Given the description of an element on the screen output the (x, y) to click on. 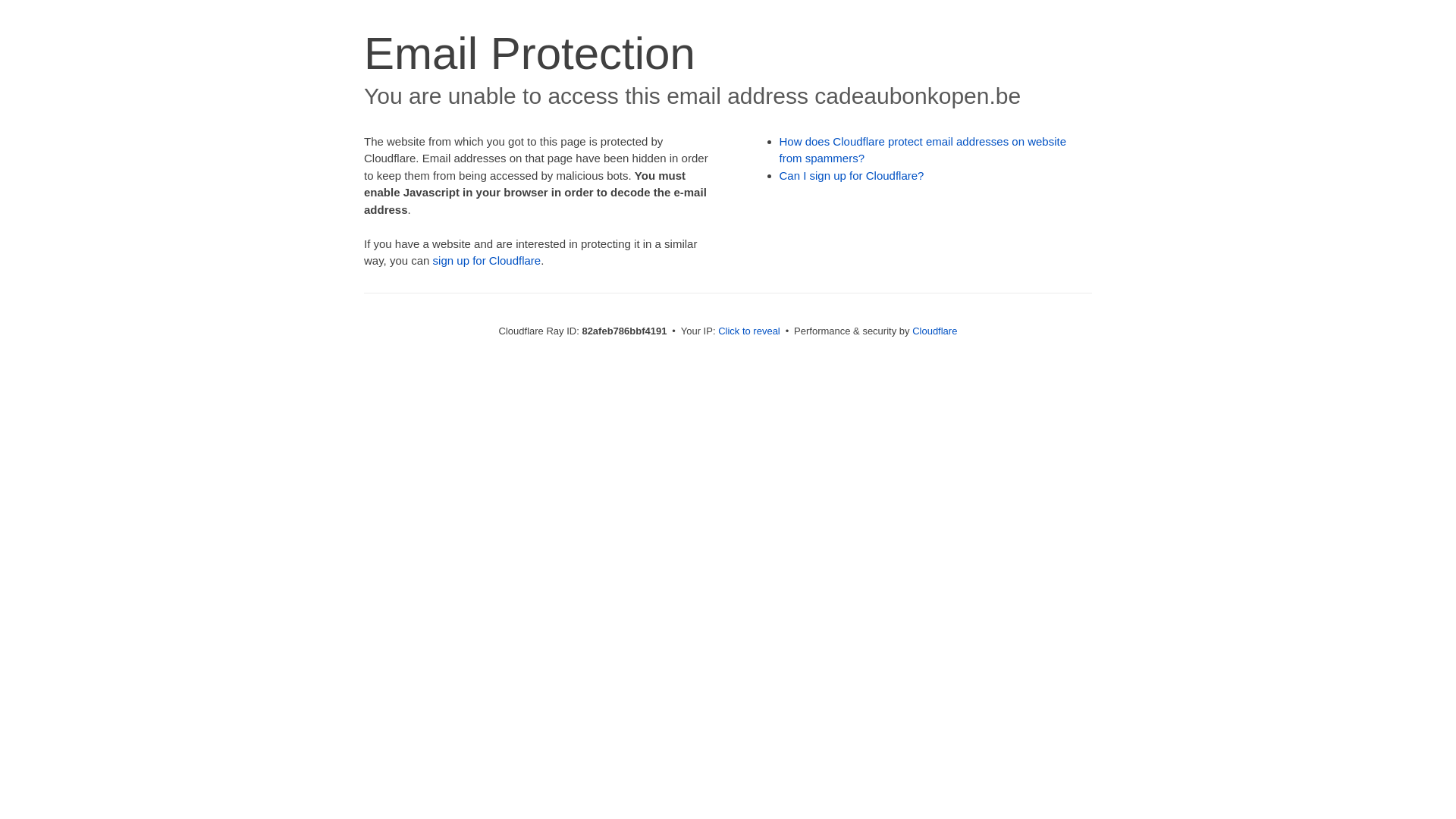
sign up for Cloudflare Element type: text (487, 260)
Click to reveal Element type: text (749, 330)
Cloudflare Element type: text (934, 330)
Can I sign up for Cloudflare? Element type: text (851, 175)
